Given the description of an element on the screen output the (x, y) to click on. 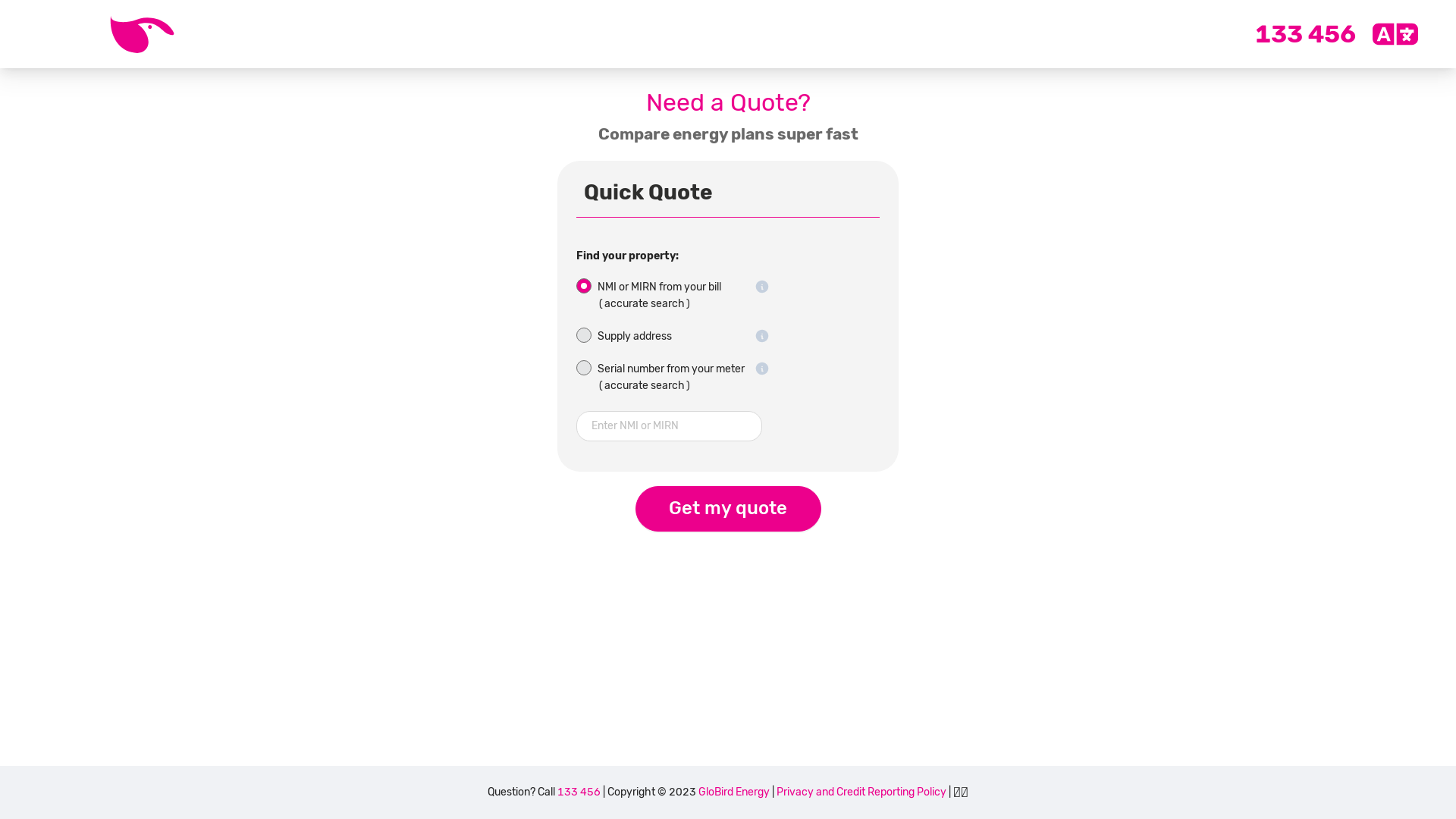
GloBird Energy Element type: text (733, 791)
133 456 Element type: text (578, 791)
133 456 Element type: text (1305, 33)
Get my quote Element type: text (728, 508)
Privacy and Credit Reporting Policy Element type: text (861, 791)
